Given the description of an element on the screen output the (x, y) to click on. 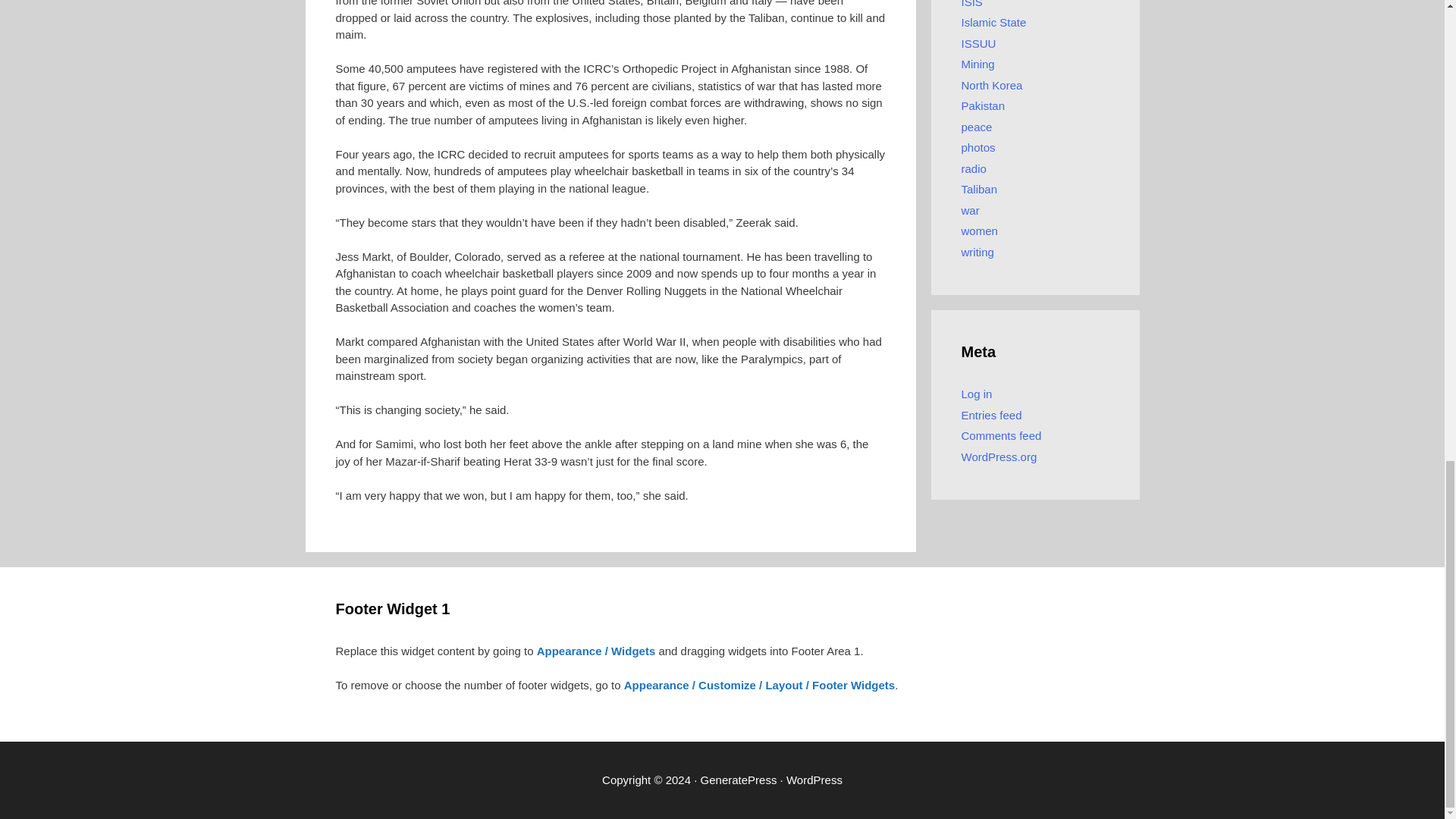
GeneratePress (738, 779)
ISIS (971, 3)
Proudly powered by WordPress (814, 779)
Islamic State (993, 21)
